Given the description of an element on the screen output the (x, y) to click on. 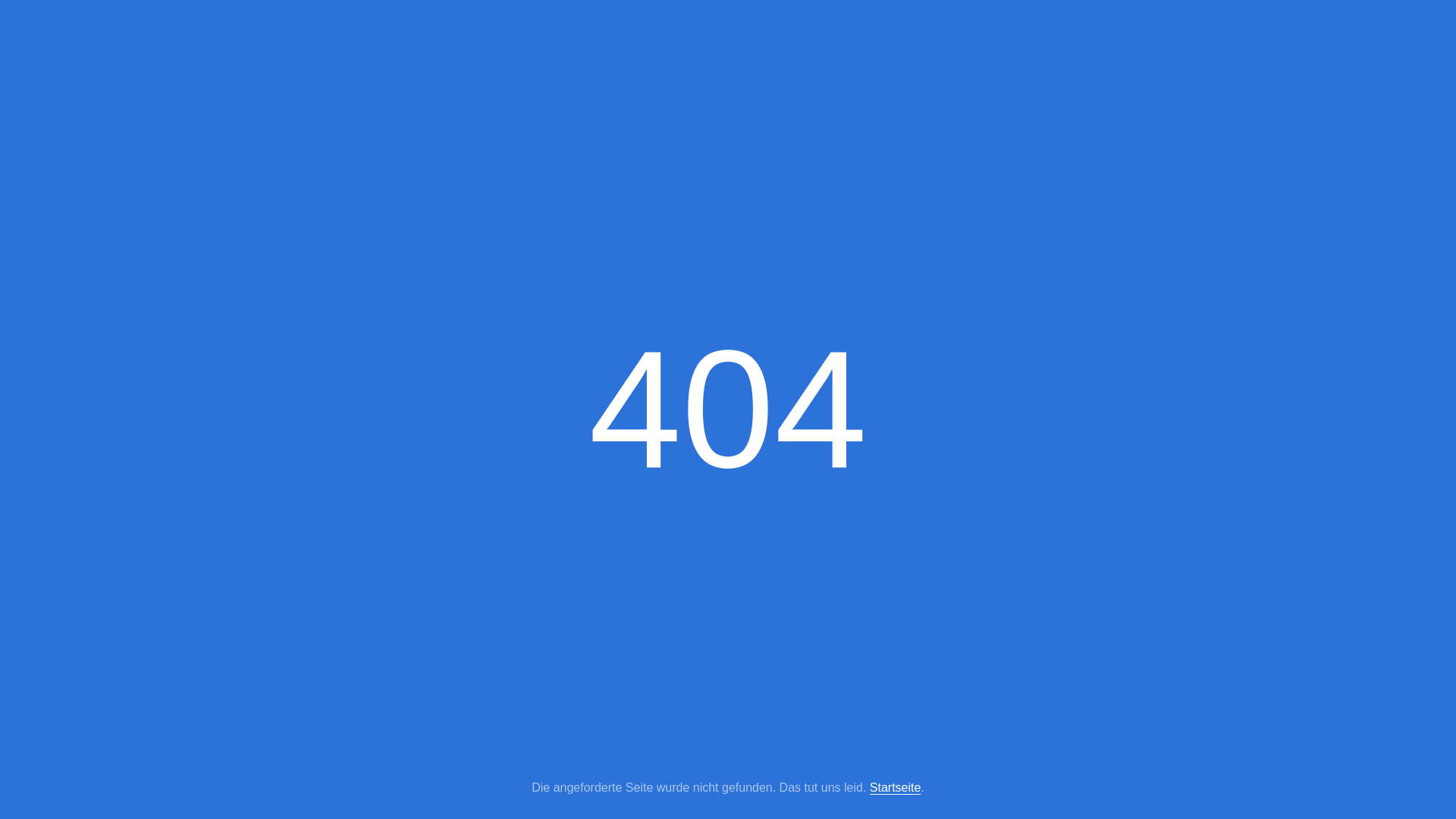
Startseite Element type: text (895, 787)
